Given the description of an element on the screen output the (x, y) to click on. 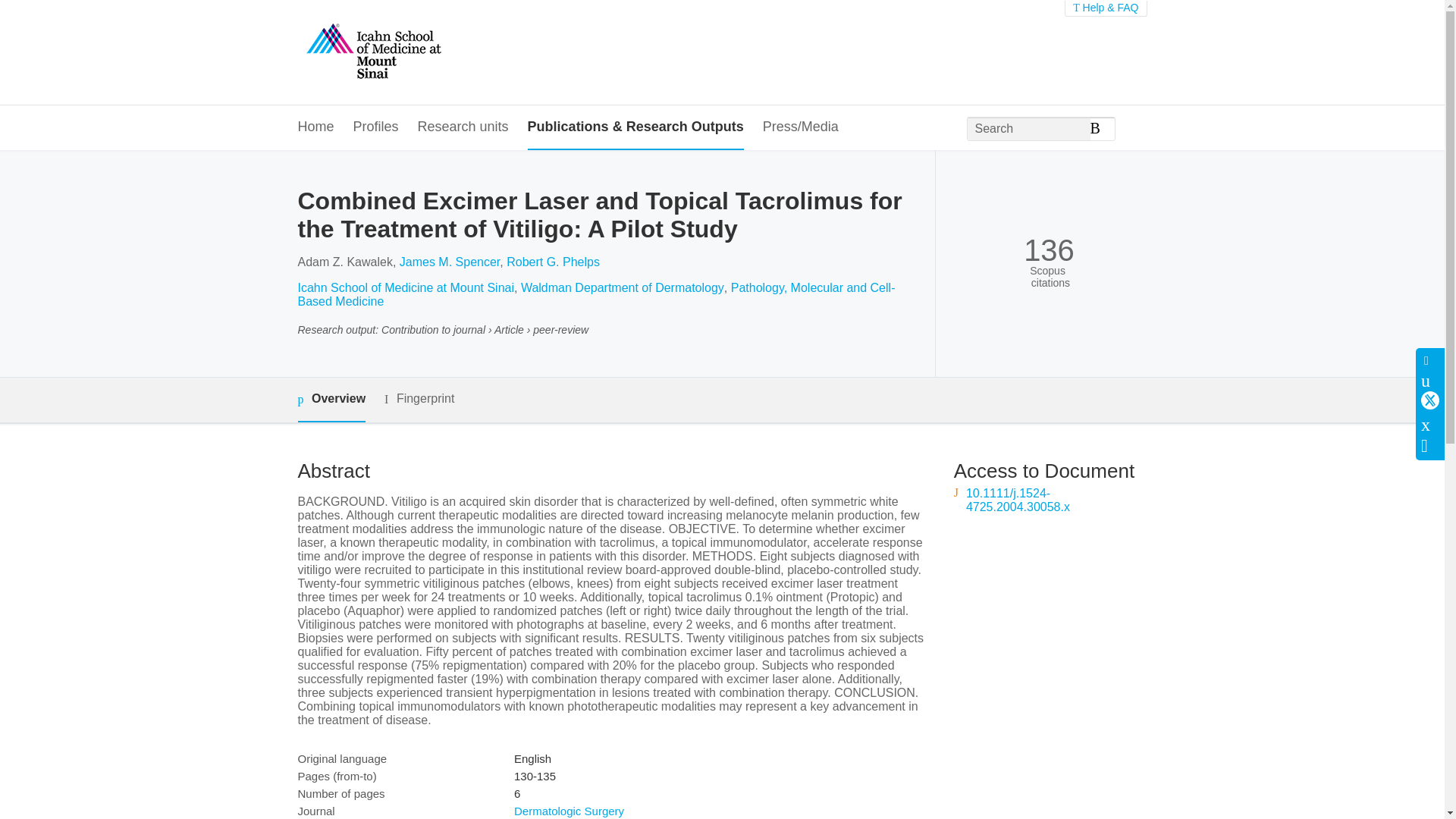
Overview (331, 399)
Fingerprint (419, 398)
Pathology, Molecular and Cell-Based Medicine (596, 294)
Robert G. Phelps (552, 261)
Icahn School of Medicine at Mount Sinai (405, 287)
Research units (462, 127)
Icahn School of Medicine at Mount Sinai Home (372, 52)
Waldman Department of Dermatology (622, 287)
James M. Spencer (449, 261)
Profiles (375, 127)
Dermatologic Surgery (568, 810)
